Given the description of an element on the screen output the (x, y) to click on. 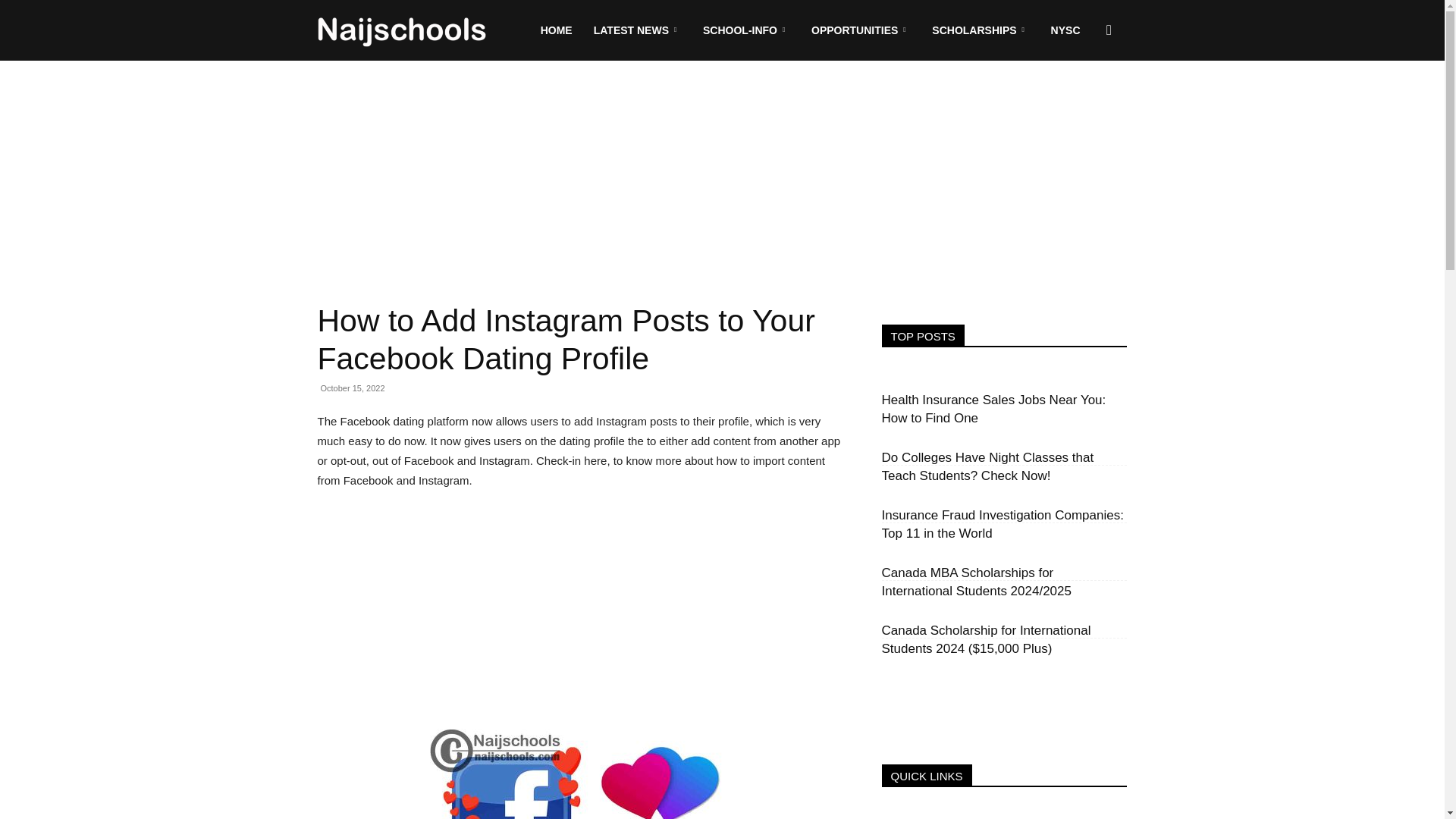
LATEST NEWS (638, 30)
NAIJSCHOOLS (401, 30)
Insurance Fraud Investigation Companies: Top 11 in the World (1001, 523)
Search (1085, 102)
SCHOOL-INFO (746, 30)
HOME (556, 30)
Advertisement (580, 616)
Health Insurance Sales Jobs Near You: How to Find One (992, 409)
